Given the description of an element on the screen output the (x, y) to click on. 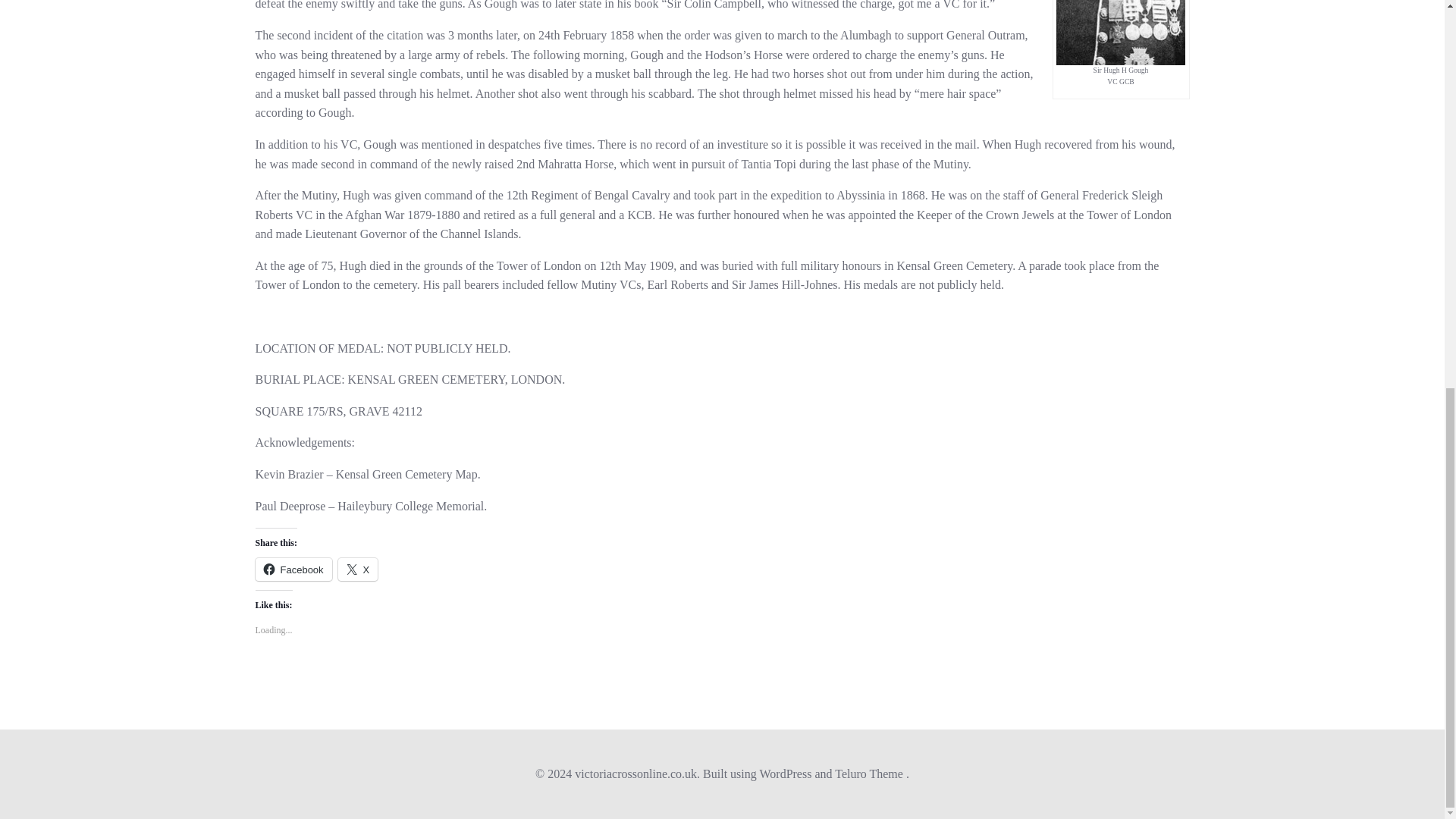
Click to share on Facebook (292, 568)
Click to share on X (357, 568)
